Given the description of an element on the screen output the (x, y) to click on. 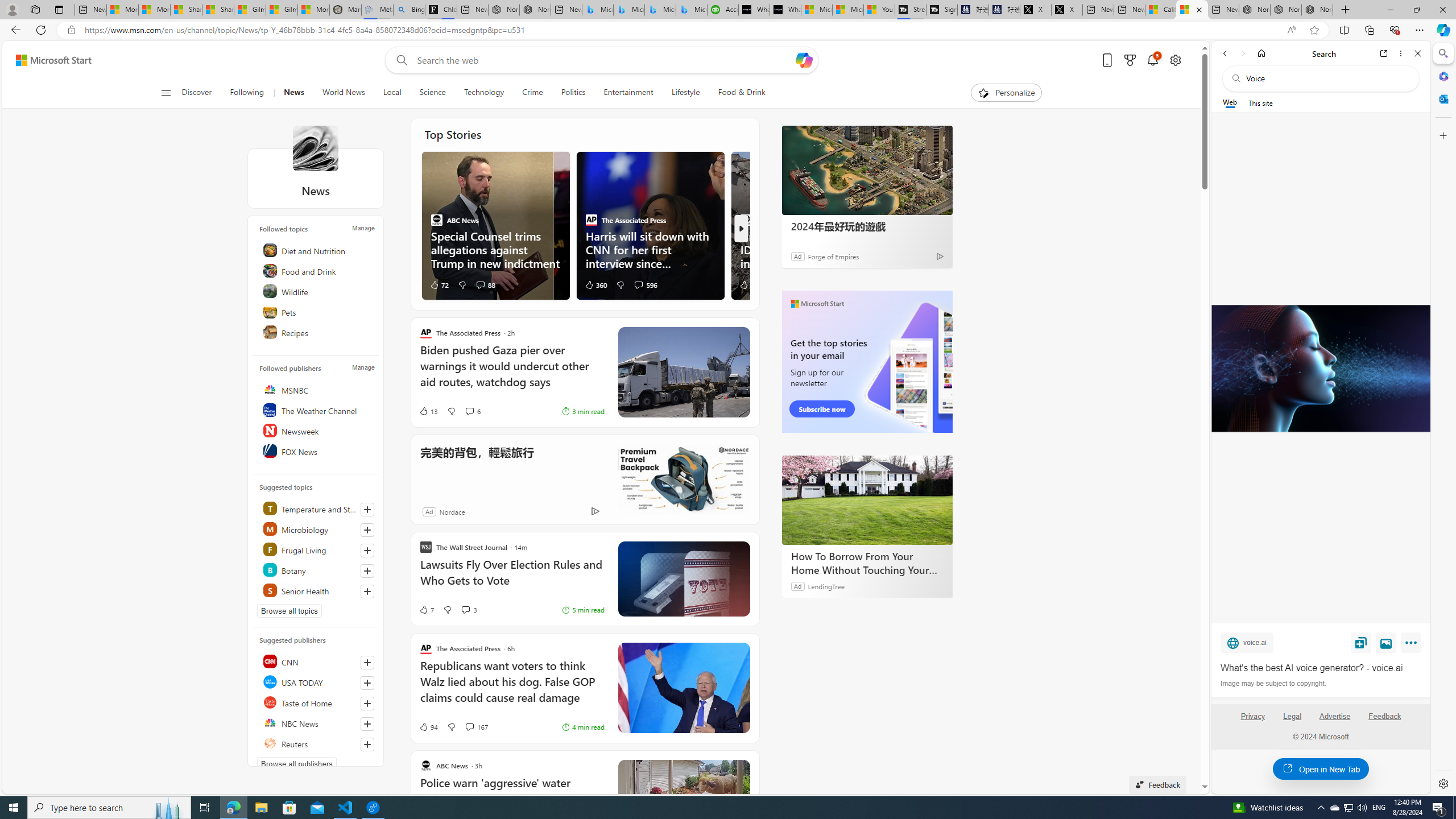
Browse all publishers (296, 763)
Customize (1442, 135)
Legal (1291, 715)
Gilma and Hector both pose tropical trouble for Hawaii (281, 9)
The Weather Channel (317, 410)
Subscribe now (821, 408)
Follow this topic (367, 591)
More (1413, 644)
Food & Drink (737, 92)
